Given the description of an element on the screen output the (x, y) to click on. 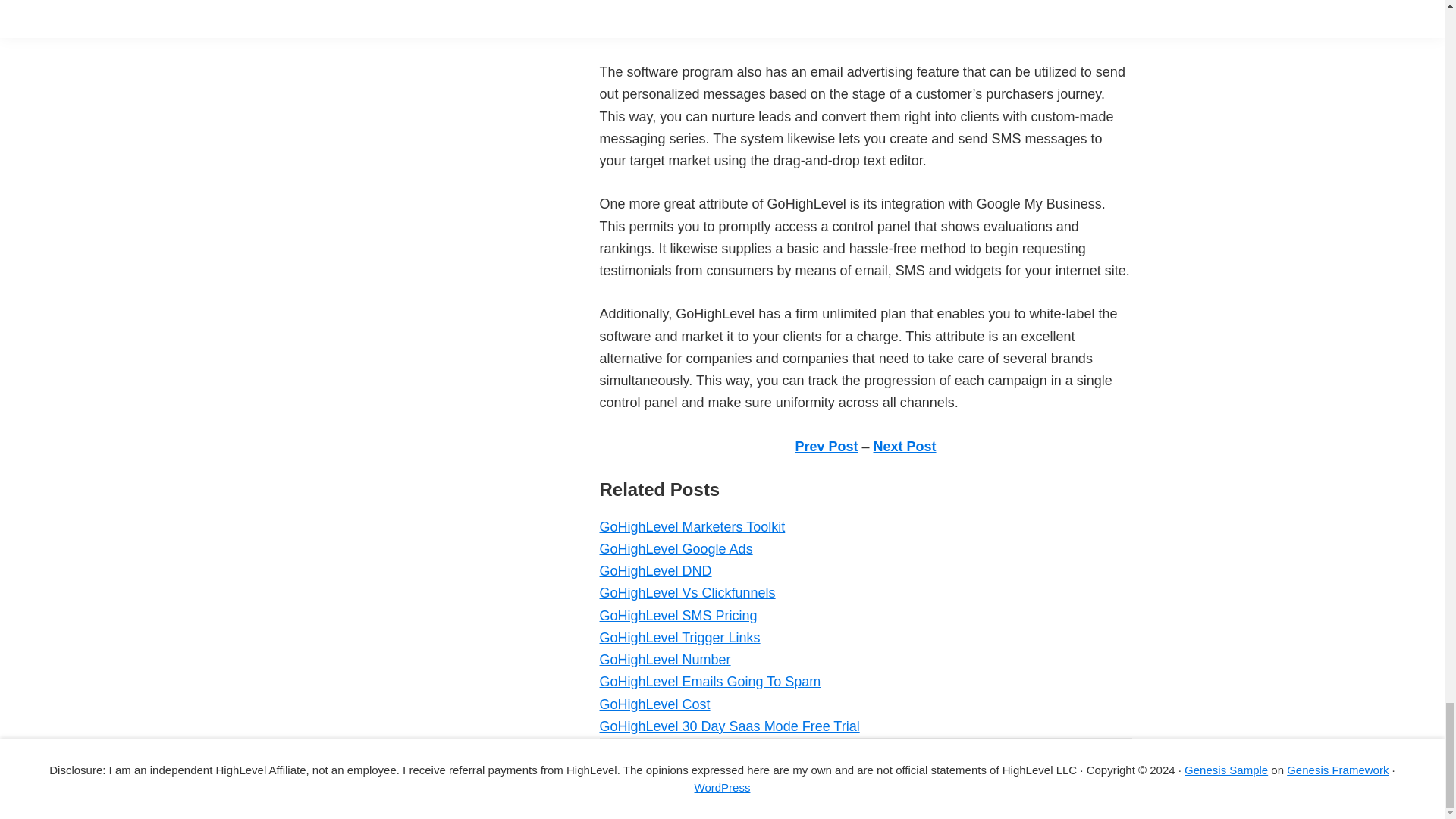
GoHighLevel Vs Clickfunnels (686, 592)
GoHighLevel SMS Pricing (677, 615)
GoHighLevel 30 Day Saas Mode Free Trial (728, 726)
GoHighLevel Google Ads (675, 548)
GoHighLevel Vs Clickfunnels (686, 592)
Next Post (904, 446)
GoHighLevel Number (664, 659)
GoHighLevel Google Ads (675, 548)
GoHighLevel 30 Day Saas Mode Free Trial (728, 726)
GoHighLevel SMS Pricing (677, 615)
